Given the description of an element on the screen output the (x, y) to click on. 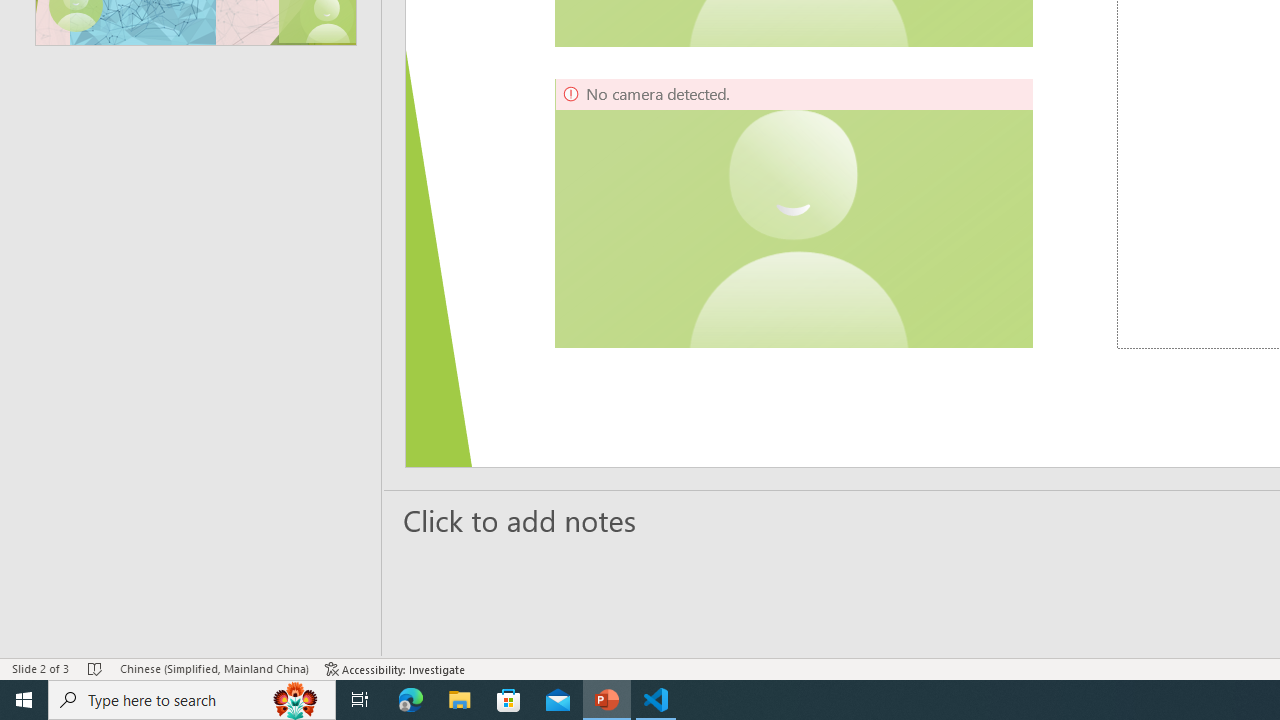
Camera 5, No camera detected. (794, 213)
